Given the description of an element on the screen output the (x, y) to click on. 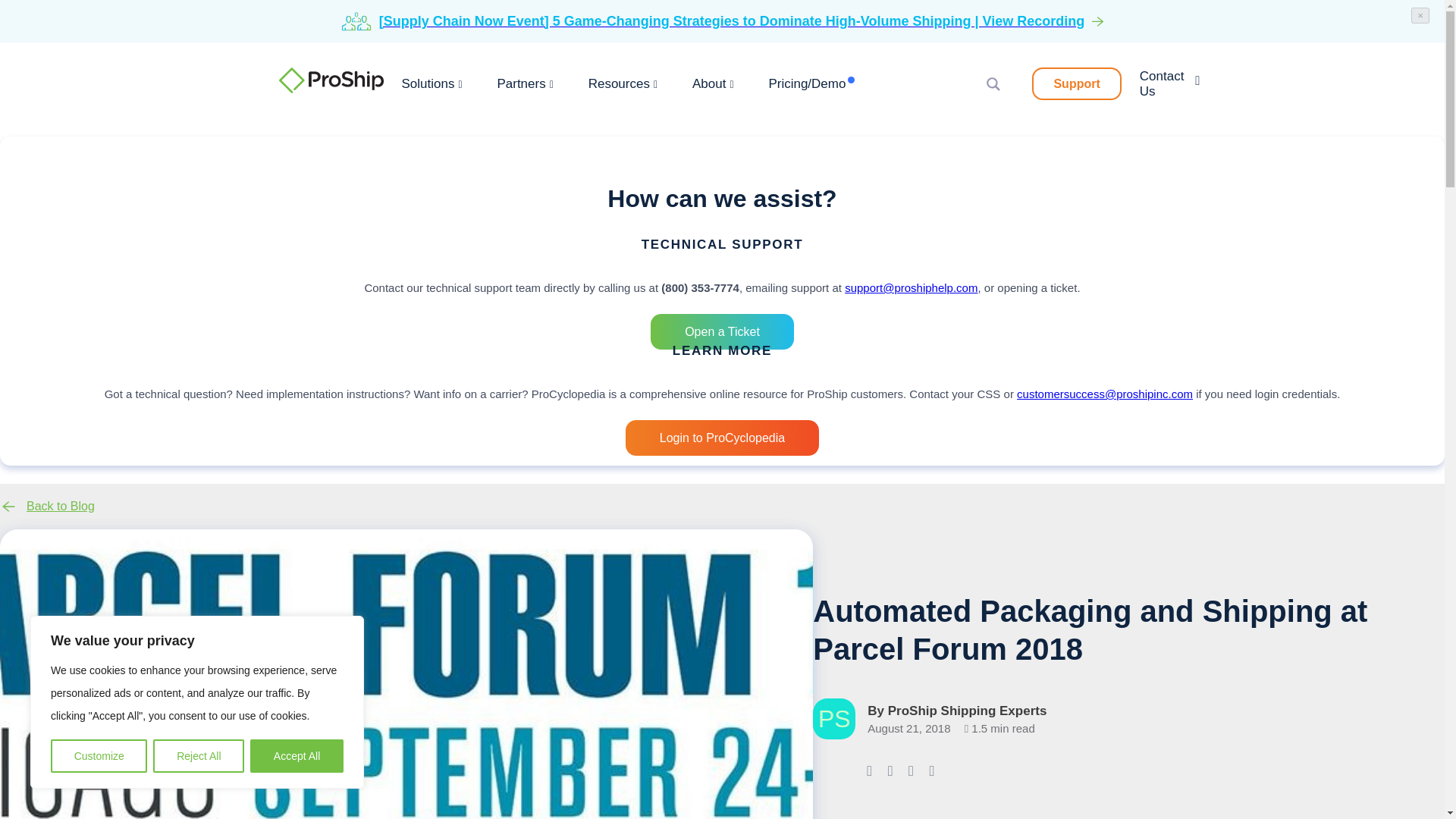
Reject All (198, 756)
Solutions (432, 83)
Accept All (296, 756)
Customize (98, 756)
Resources (623, 83)
Partners (524, 83)
About (713, 83)
